Given the description of an element on the screen output the (x, y) to click on. 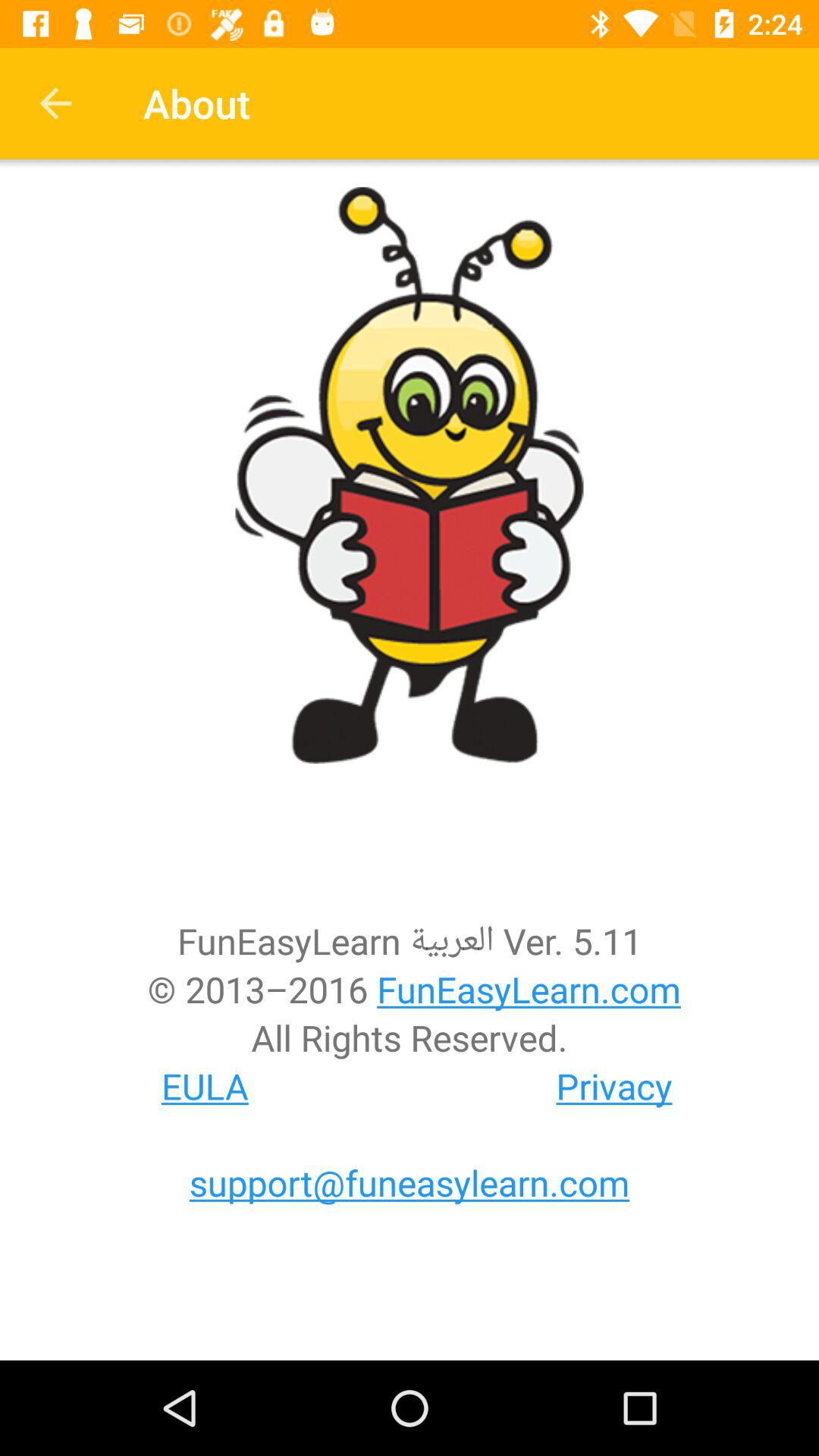
tap the icon below the all rights reserved. icon (204, 1085)
